Given the description of an element on the screen output the (x, y) to click on. 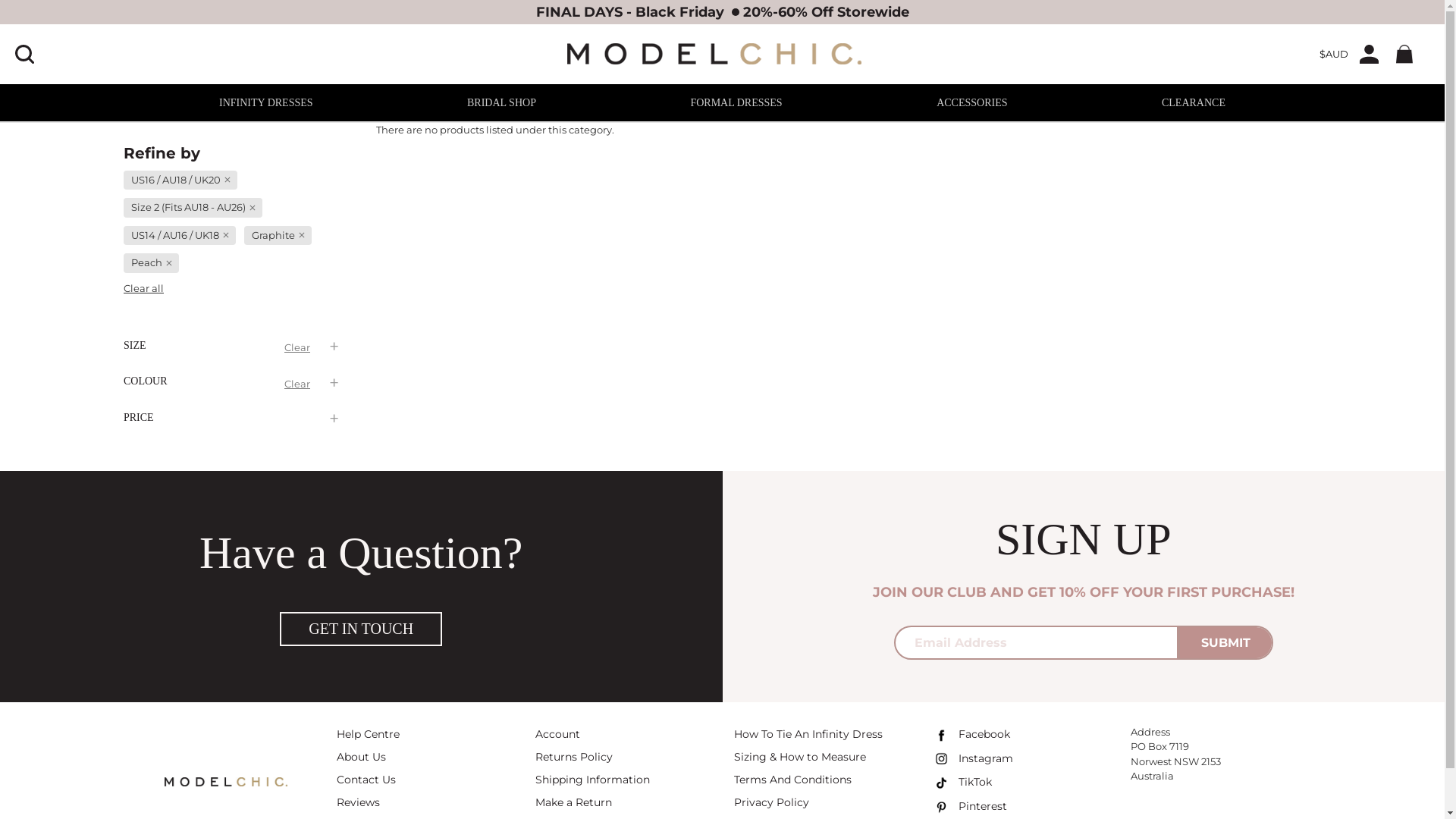
BRIDAL SHOP Element type: text (501, 102)
CLEARANCE Element type: text (1193, 102)
How To Tie An Infinity Dress Element type: text (808, 735)
Graphite Element type: text (277, 235)
Shipping Information Element type: text (592, 781)
Facebook Element type: text (970, 736)
Make a Return Element type: text (573, 804)
Instagram Element type: text (972, 761)
Clear Element type: text (297, 347)
Reviews Element type: text (357, 804)
INFINITY DRESSES Element type: text (266, 102)
US14 / AU16 / UK18 Element type: text (179, 235)
TikTok Element type: text (961, 784)
PRICE Element type: text (231, 417)
Help Centre Element type: text (367, 735)
Account Element type: text (557, 735)
Contact Us Element type: text (365, 781)
GET IN TOUCH Element type: text (360, 628)
About Us Element type: text (360, 758)
Privacy Policy Element type: text (771, 804)
Sizing & How to Measure Element type: text (800, 758)
Clear all Element type: text (143, 288)
ACCESSORIES Element type: text (971, 102)
$AUD Element type: text (1333, 54)
Modelchic. Element type: hover (714, 53)
Returns Policy Element type: text (573, 758)
SUBMIT Element type: text (1225, 642)
SIZE Element type: text (231, 345)
Clear Element type: text (297, 384)
COLOUR Element type: text (231, 381)
FORMAL DRESSES Element type: text (735, 102)
Size 2 (Fits AU18 - AU26) Element type: text (192, 207)
US16 / AU18 / UK20 Element type: text (180, 180)
Terms And Conditions Element type: text (792, 781)
Peach Element type: text (150, 263)
